Given the description of an element on the screen output the (x, y) to click on. 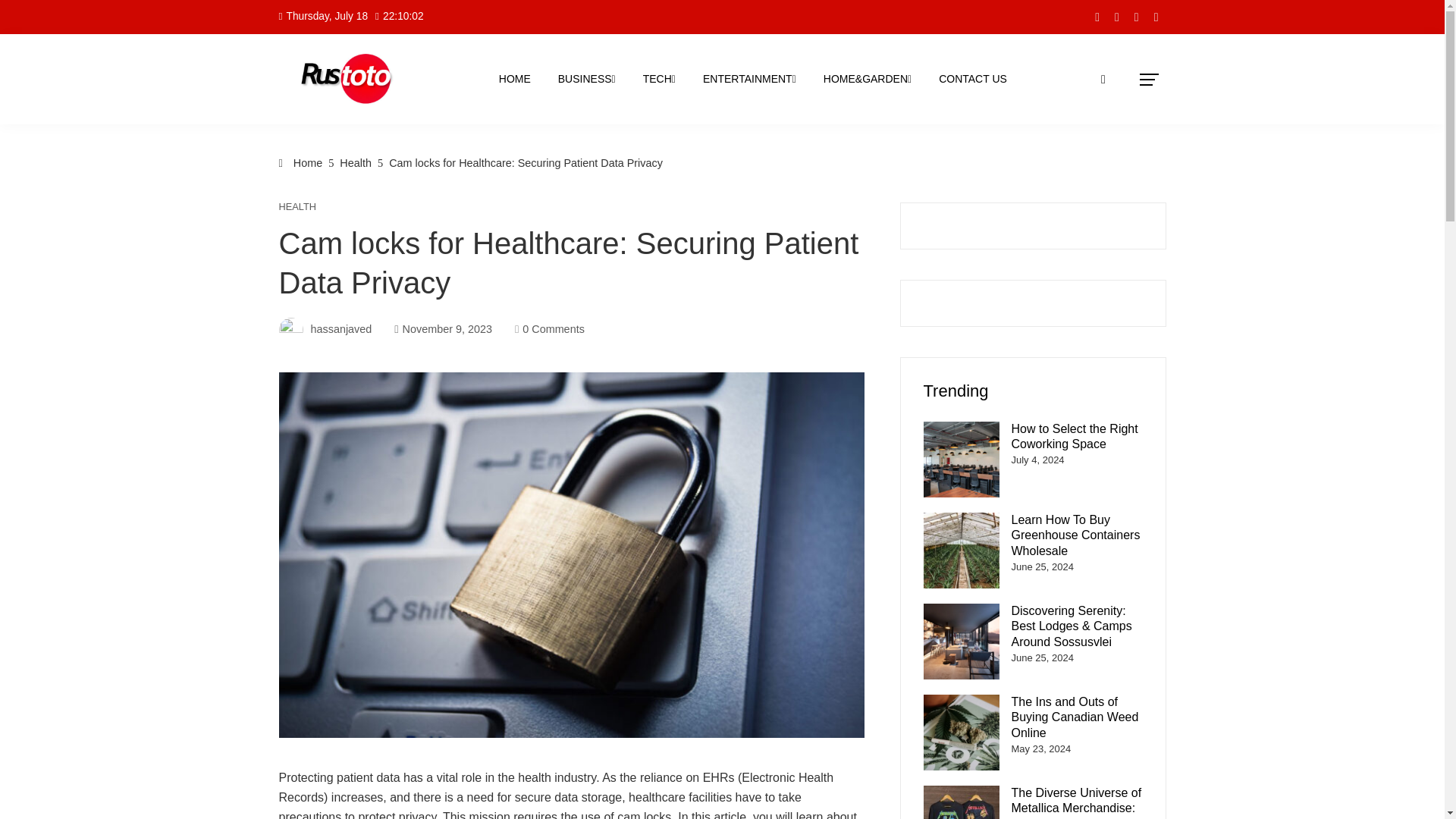
ENTERTAINMENT (749, 79)
TECH (659, 79)
HOME (514, 79)
CONTACT US (972, 79)
BUSINESS (587, 79)
